Given the description of an element on the screen output the (x, y) to click on. 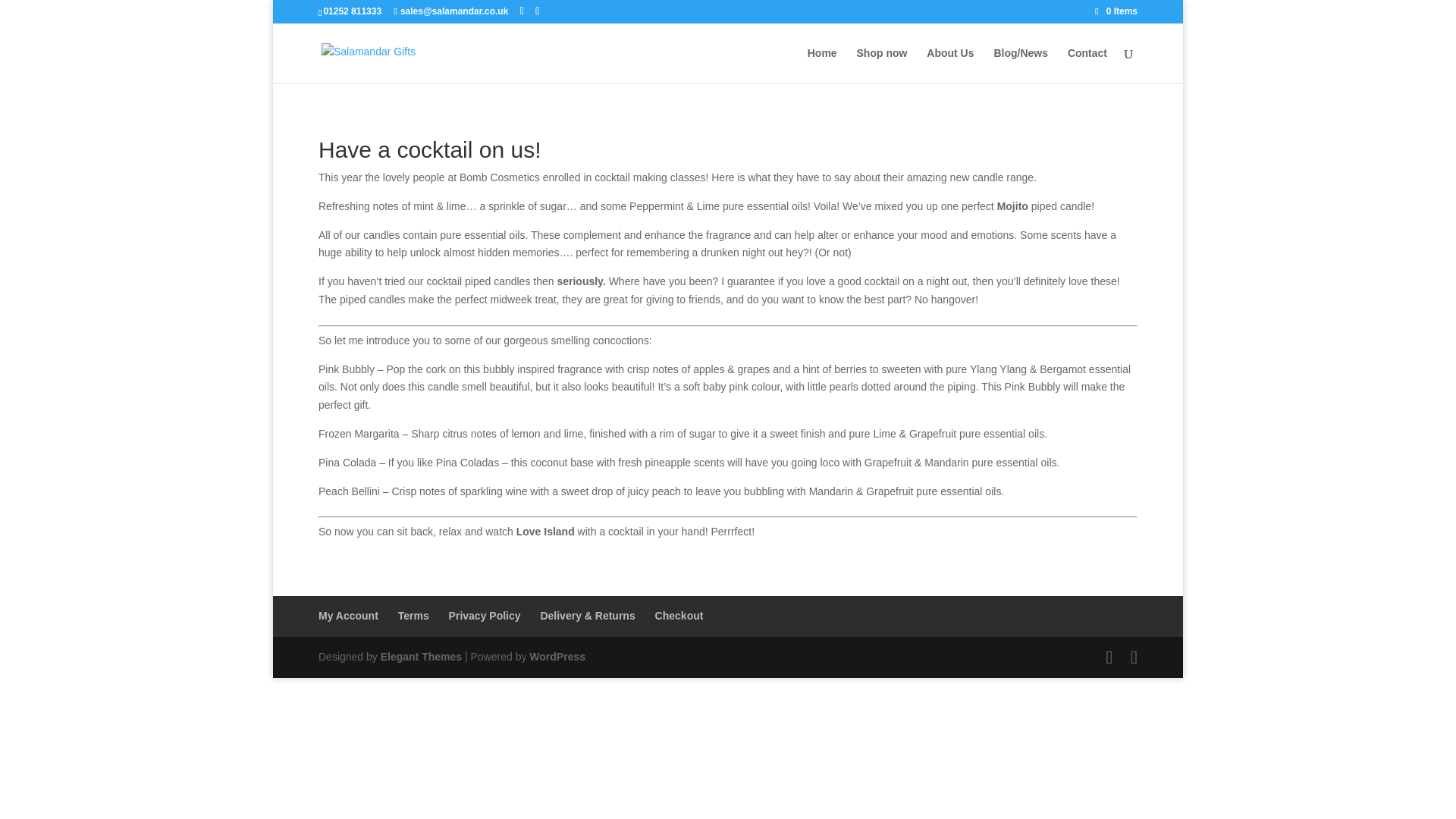
Premium WordPress Themes (420, 656)
Shop now (882, 65)
About Us (950, 65)
Contact (1086, 65)
Terms (413, 615)
Home (822, 65)
My Account (348, 615)
WordPress (557, 656)
Elegant Themes (420, 656)
0 Items (1115, 10)
Privacy Policy (484, 615)
Checkout (679, 615)
